Given the description of an element on the screen output the (x, y) to click on. 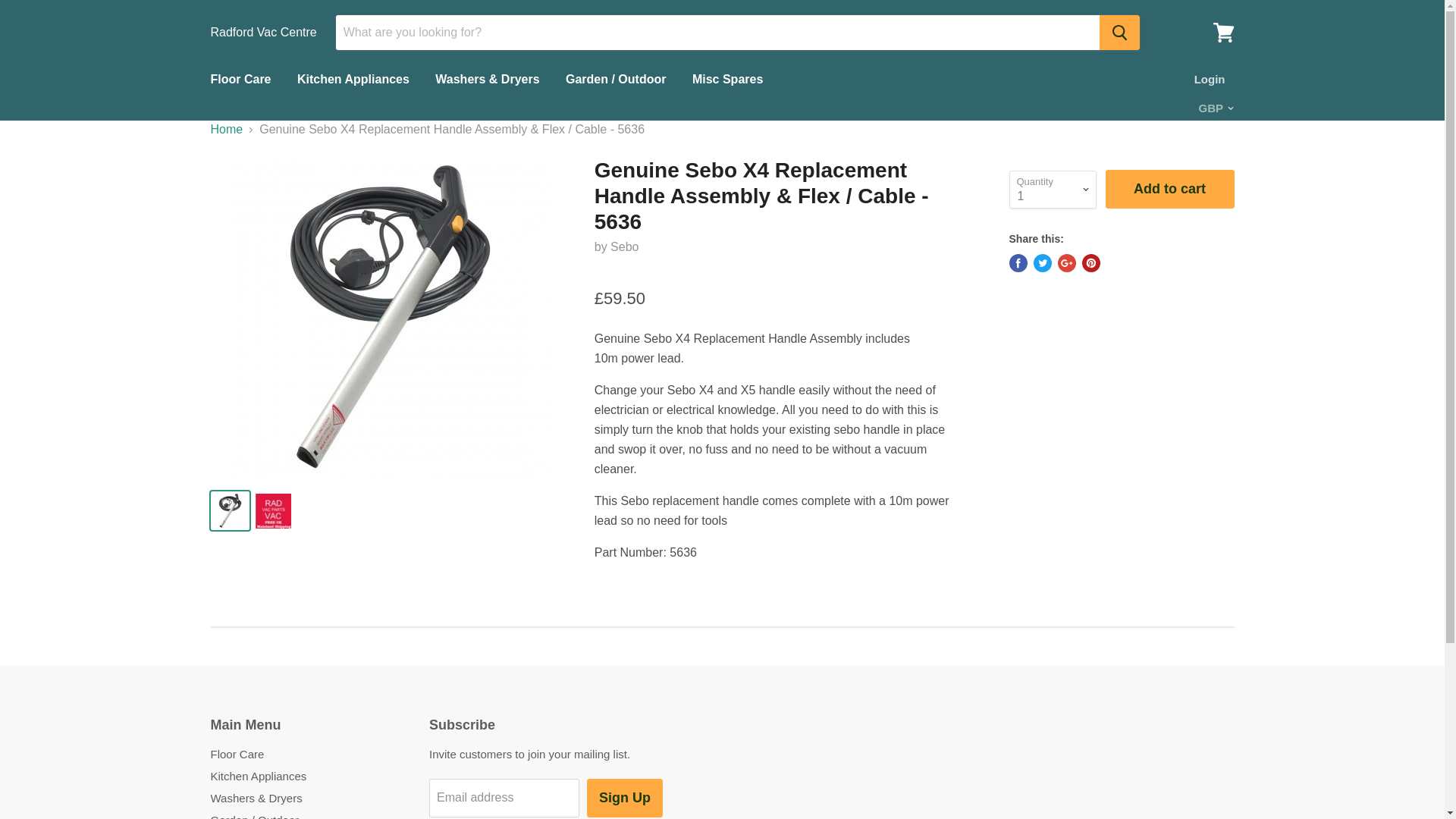
Floor Care (240, 79)
Misc Spares (727, 79)
Kitchen Appliances (352, 79)
Radford Vac Centre (264, 32)
View cart (1223, 32)
